Given the description of an element on the screen output the (x, y) to click on. 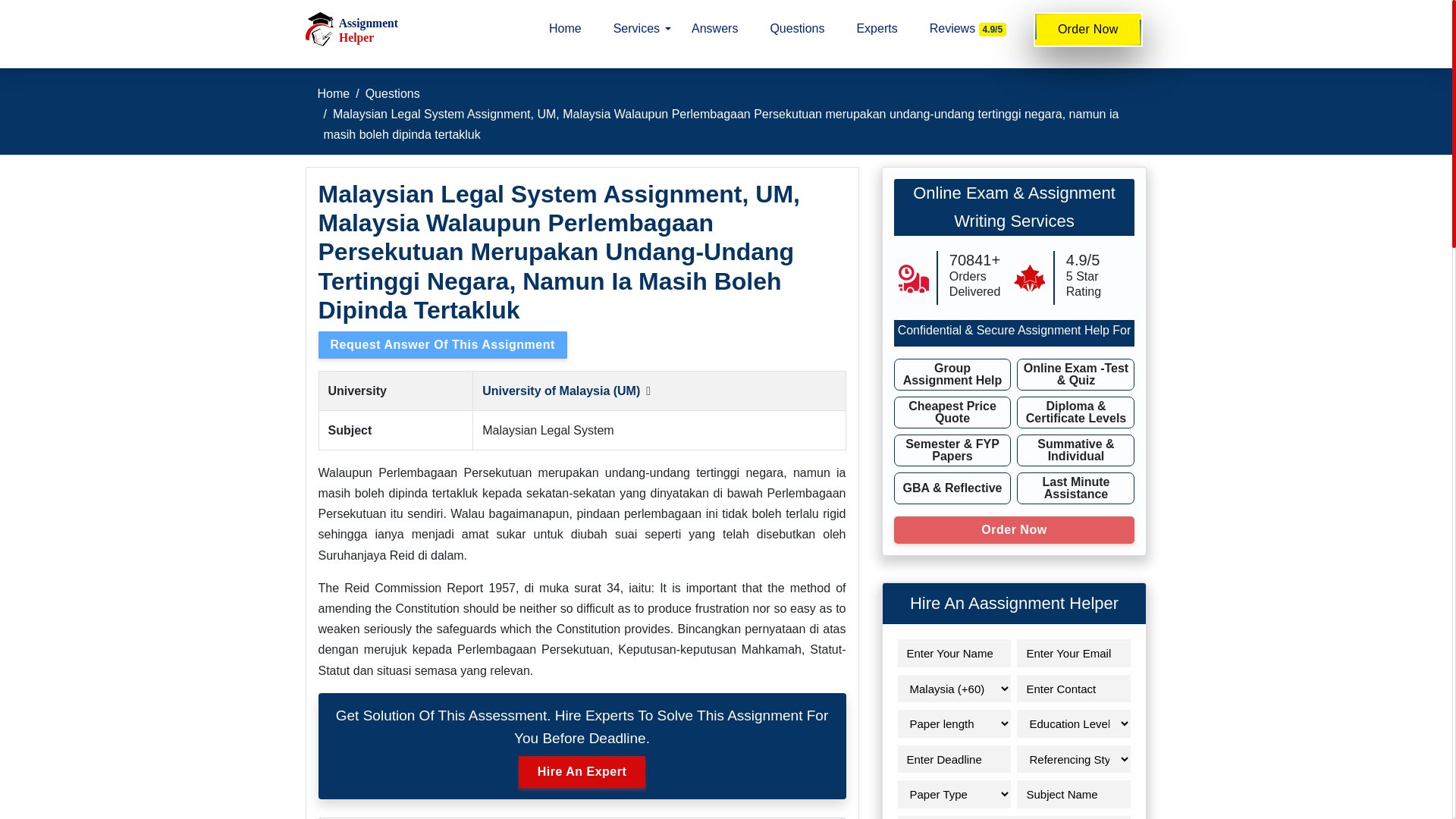
Questions (392, 92)
Services (636, 28)
Request Answer Of This Assignment (442, 344)
Answers (714, 28)
Home (564, 28)
Experts (876, 28)
Order Now (1087, 29)
Questions (796, 28)
Hire An Expert (582, 771)
Home (333, 92)
